Given the description of an element on the screen output the (x, y) to click on. 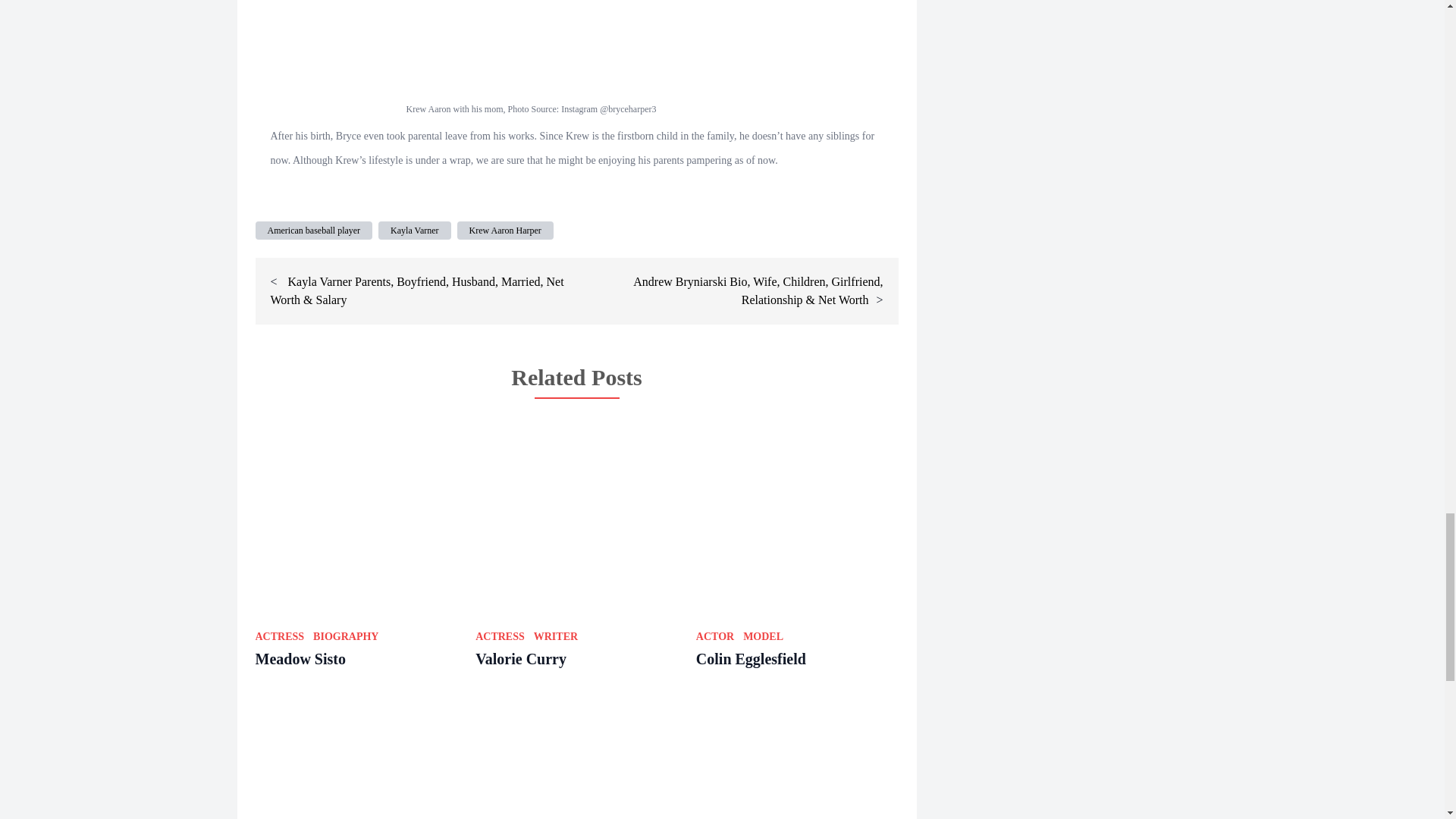
American baseball player (313, 230)
Krew Aaron Harper (505, 230)
Kayla Varner (413, 230)
ACTRESS (279, 636)
